Given the description of an element on the screen output the (x, y) to click on. 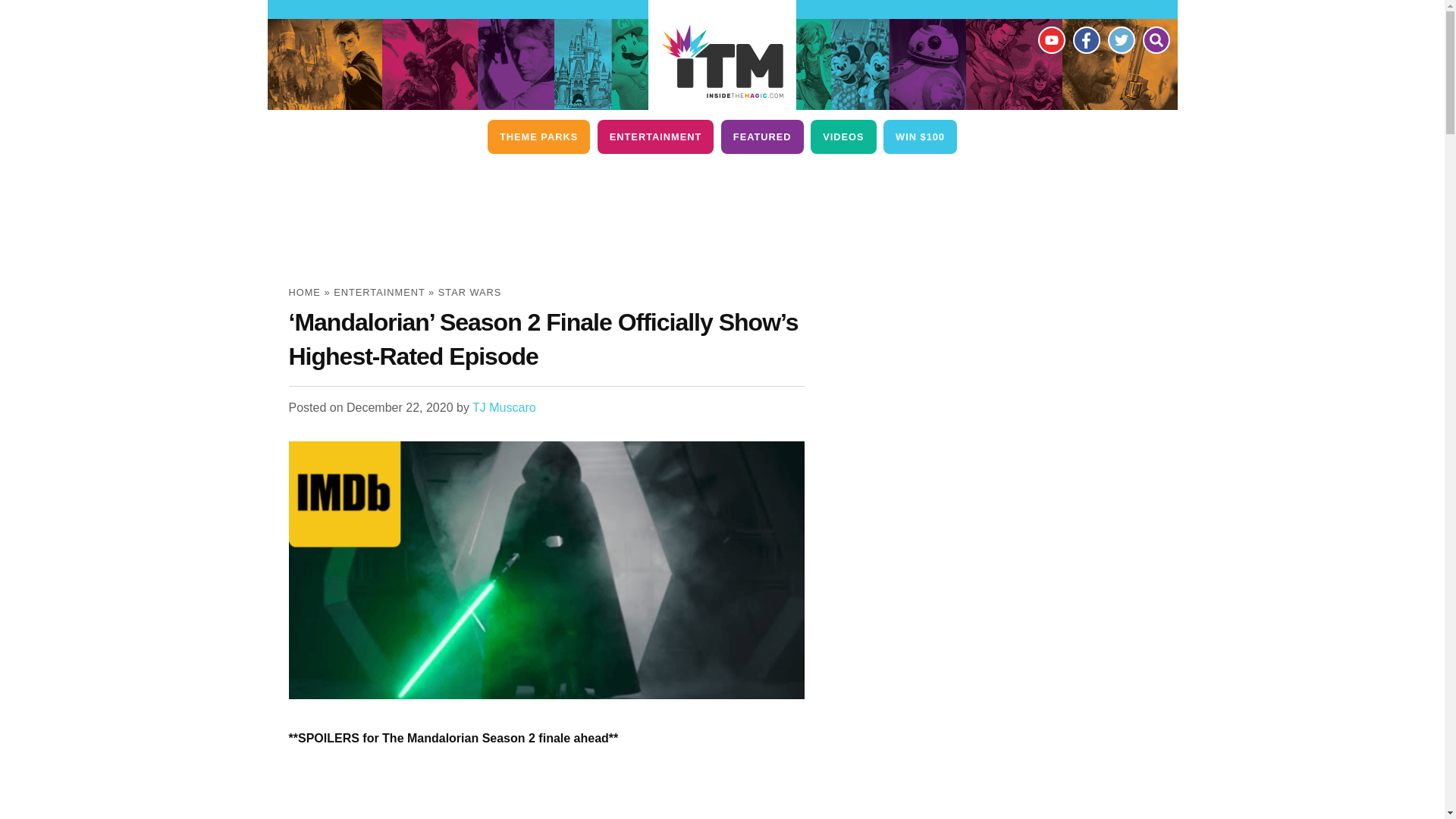
Facebook (1085, 40)
FEATURED (761, 136)
THEME PARKS (538, 136)
YouTube (1050, 40)
Twitter (1120, 40)
ENTERTAINMENT (655, 136)
Search (1155, 40)
